Given the description of an element on the screen output the (x, y) to click on. 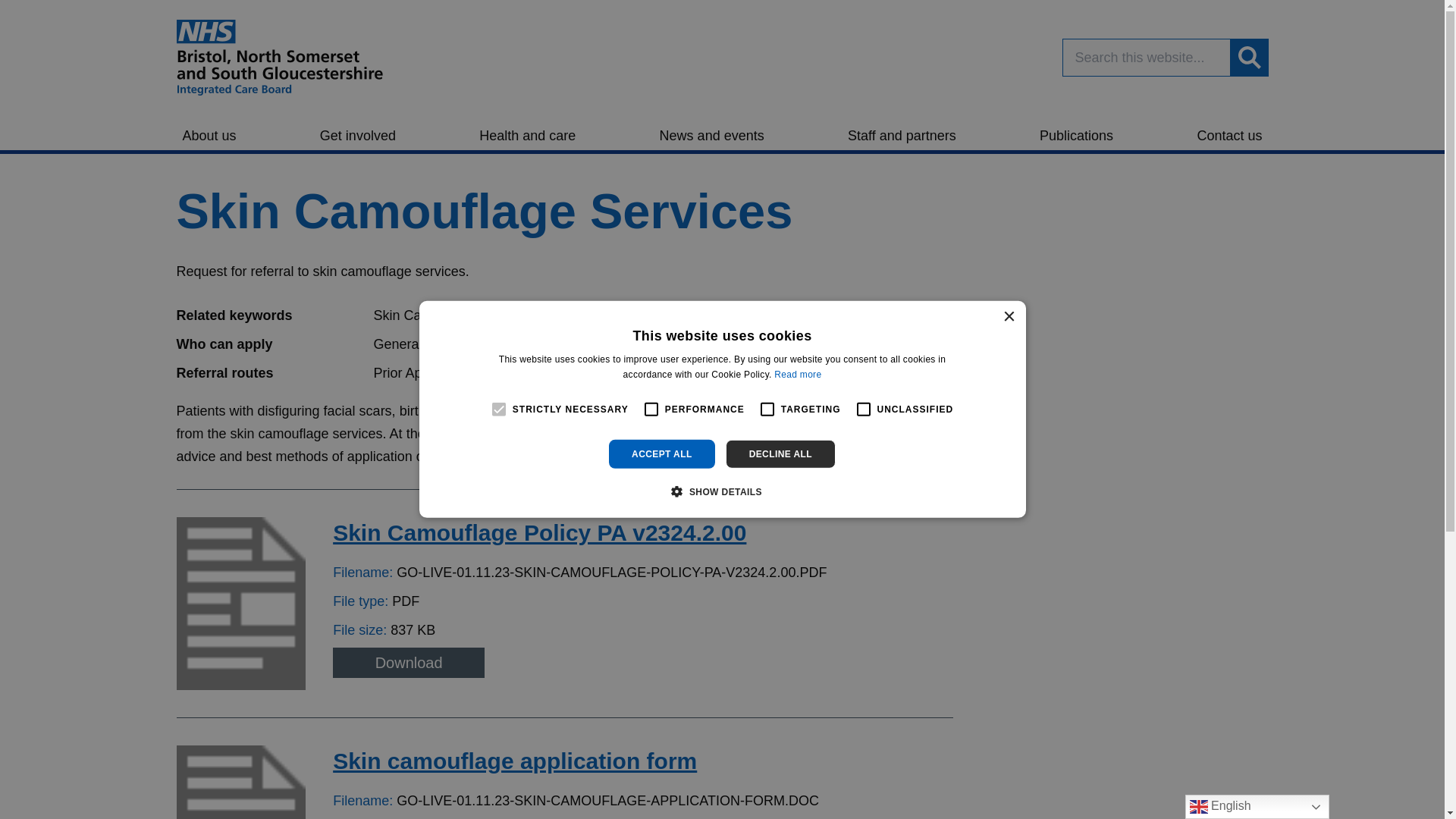
About us (208, 132)
msword File (240, 782)
Get involved (357, 132)
Health and care (526, 132)
News and events (711, 132)
Submit Search (1249, 57)
